Given the description of an element on the screen output the (x, y) to click on. 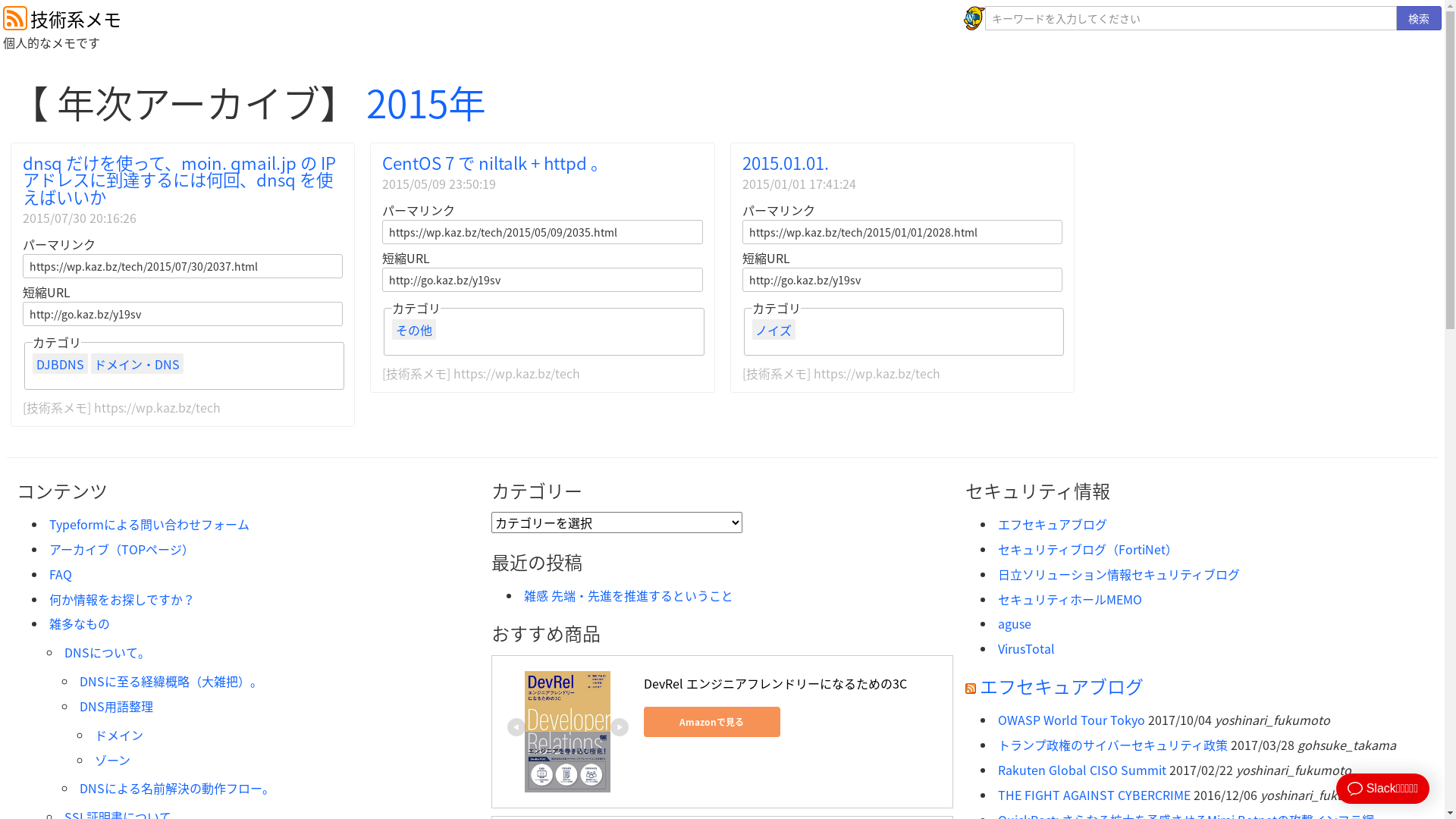
FAQ Element type: text (60, 573)
http://go.kaz.bz/y19sv Element type: text (542, 279)
Rakuten Global CISO Summit Element type: text (1081, 769)
aguse Element type: text (1014, 623)
http://go.kaz.bz/y19sv Element type: text (182, 313)
VirusTotal Element type: text (1025, 648)
https://wp.kaz.bz/tech/2015/01/01/2028.html Element type: text (901, 231)
https://wp.kaz.bz/tech/2015/05/09/2035.html Element type: text (542, 231)
http://go.kaz.bz/y19sv Element type: text (901, 279)
2015.01.01. Element type: text (784, 162)
DJBDNS Element type: text (59, 363)
THE FIGHT AGAINST CYBERCRIME Element type: text (1093, 794)
OWASP World Tour Tokyo Element type: text (1071, 719)
https://wp.kaz.bz/tech/2015/07/30/2037.html Element type: text (182, 266)
